Given the description of an element on the screen output the (x, y) to click on. 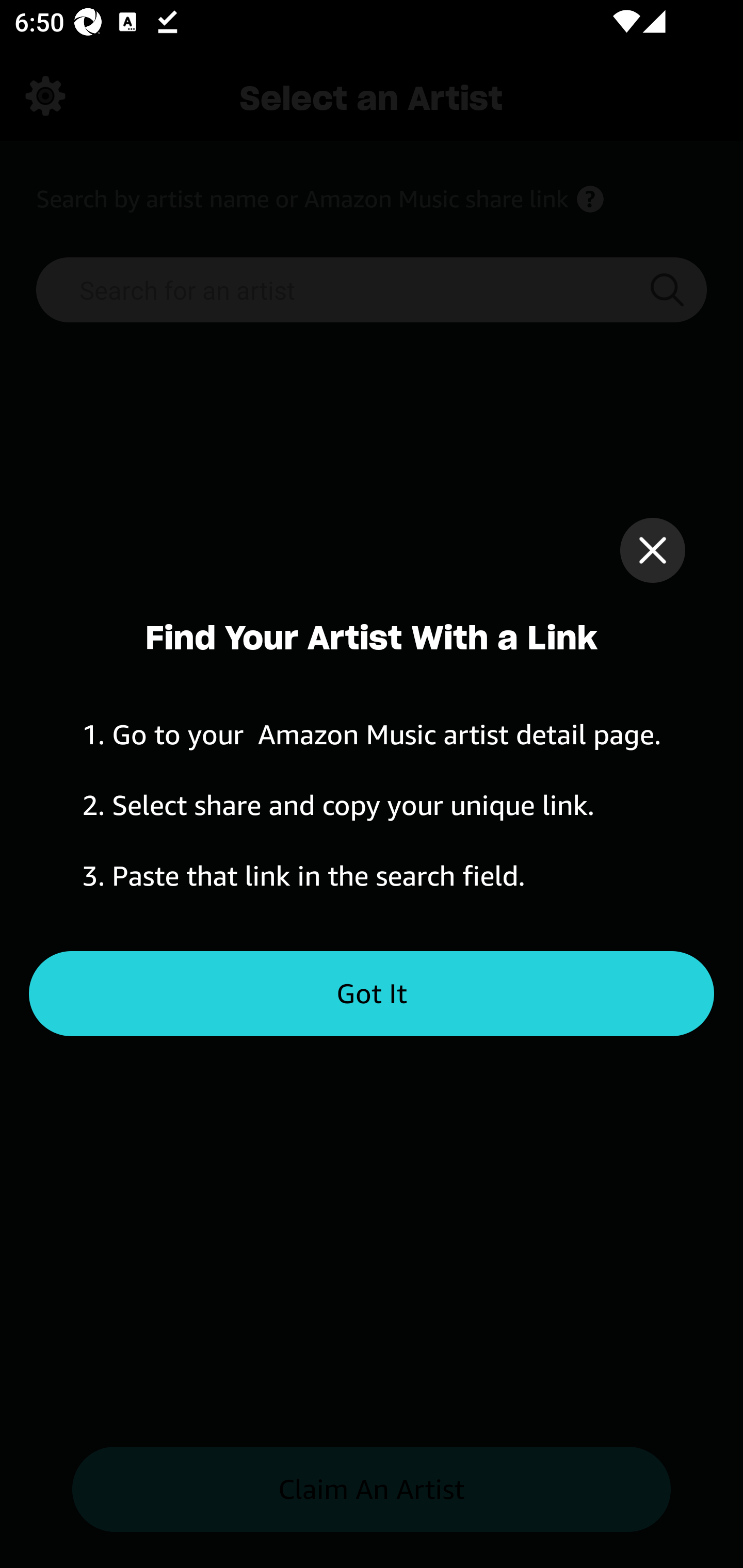
Generic_dismiss  icon (652, 550)
Got it button Got It (371, 993)
